Given the description of an element on the screen output the (x, y) to click on. 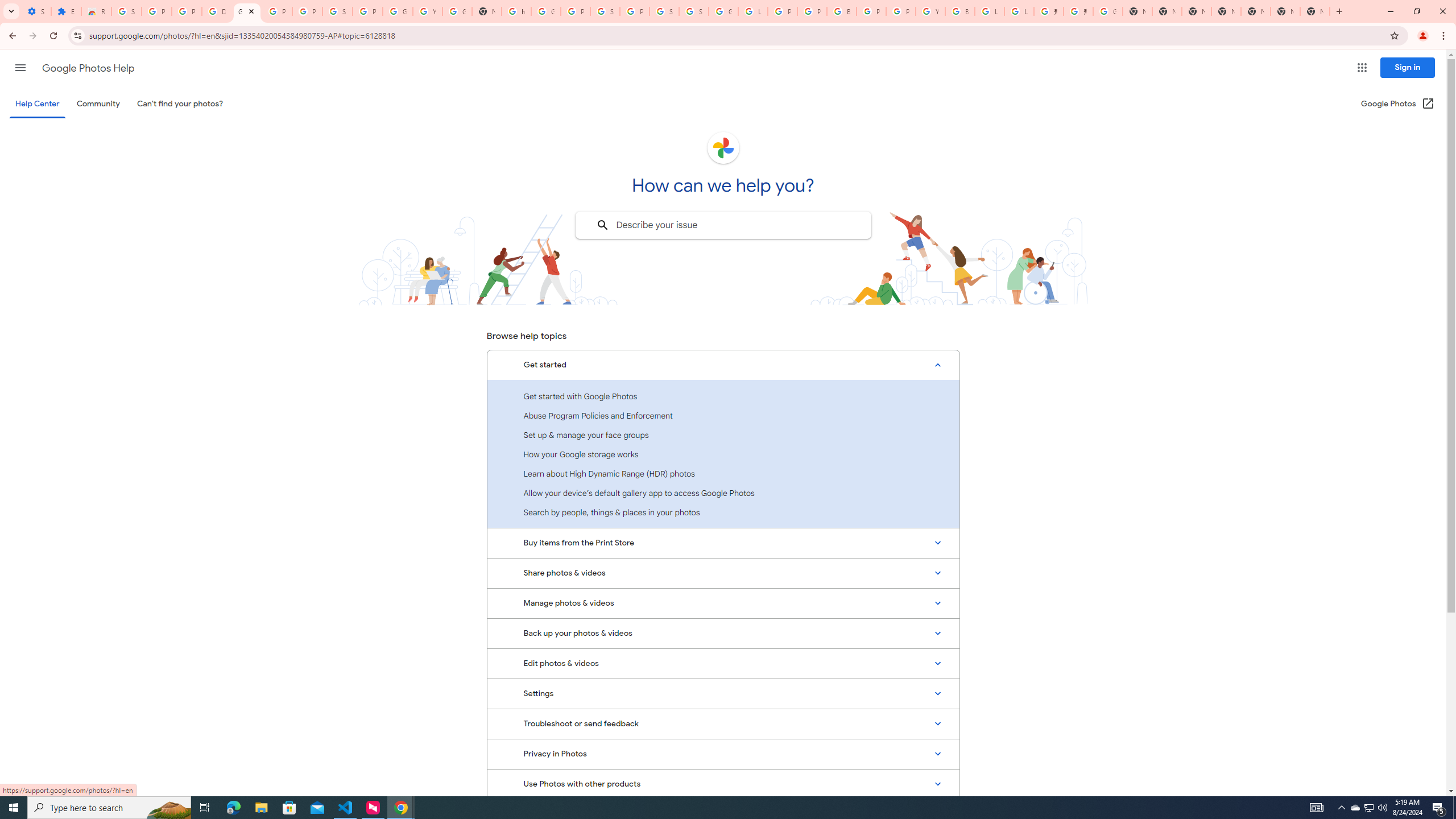
Privacy in Photos (722, 754)
Describe your issue to find information that might help you. (722, 225)
